Given the description of an element on the screen output the (x, y) to click on. 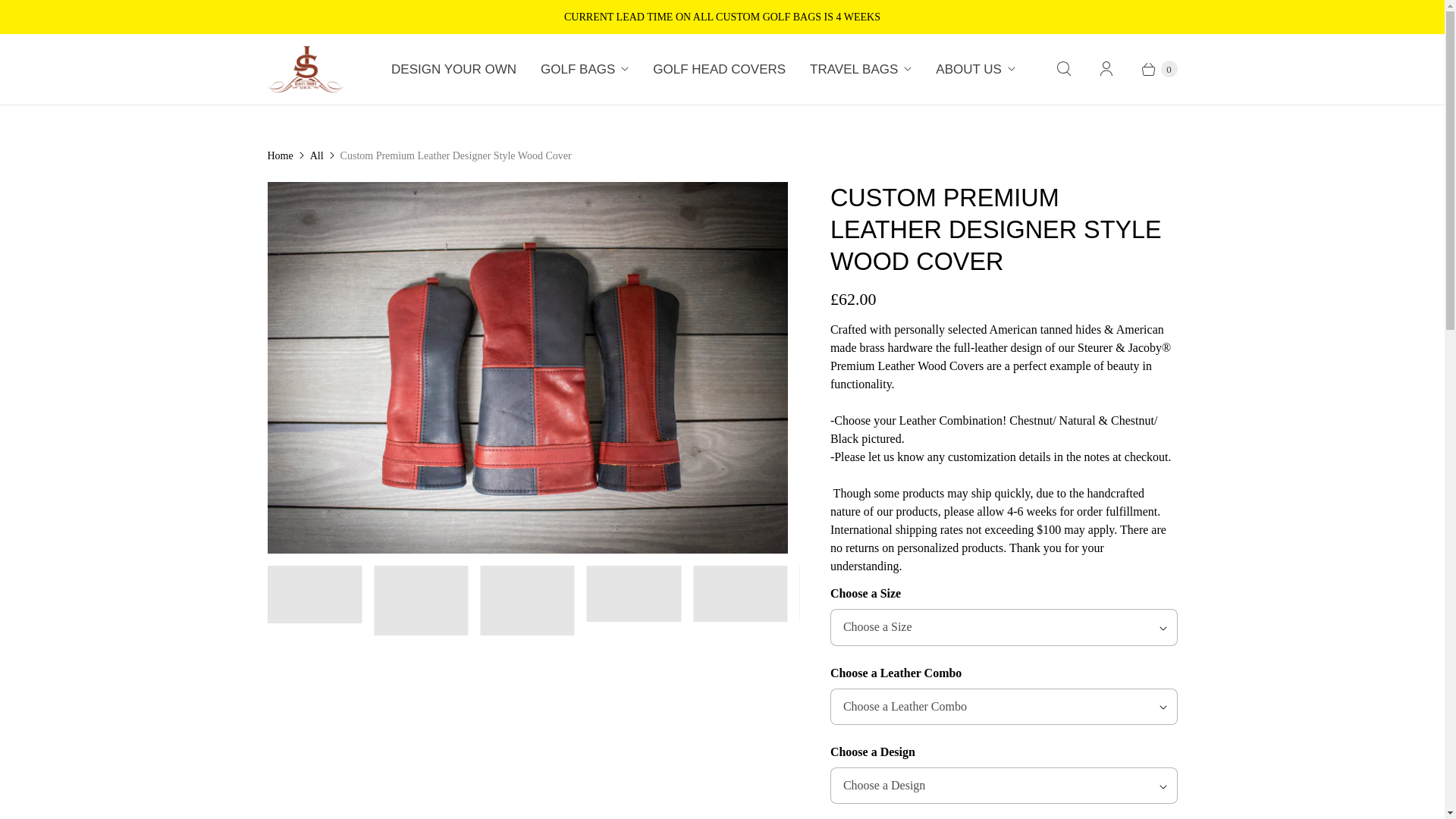
GOLF HEAD COVERS (718, 69)
DESIGN YOUR OWN (453, 69)
0 (1151, 68)
